Given the description of an element on the screen output the (x, y) to click on. 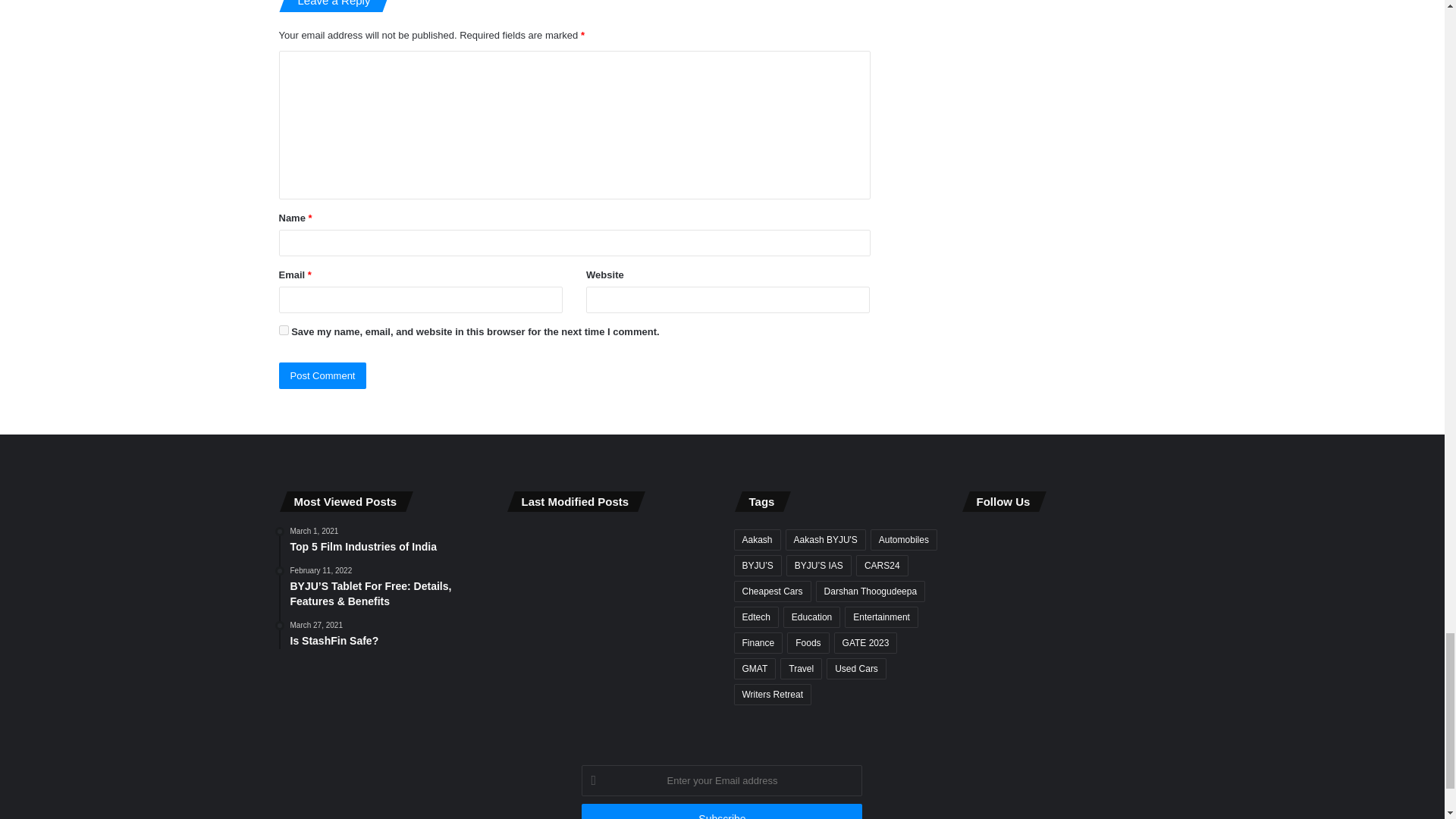
Subscribe (720, 811)
yes (283, 329)
Post Comment (322, 375)
